Given the description of an element on the screen output the (x, y) to click on. 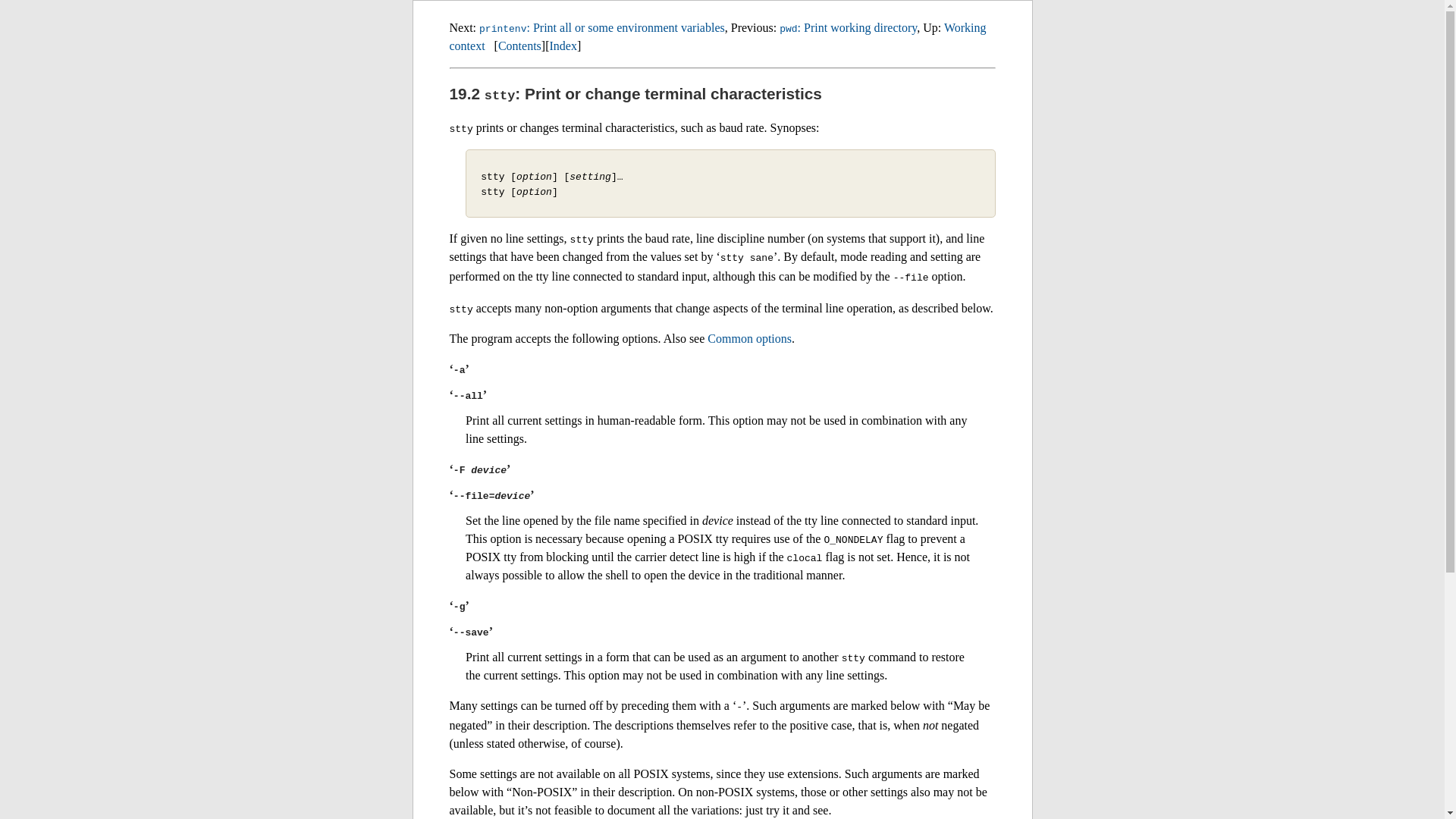
Index (562, 45)
Table of contents (519, 45)
Contents (519, 45)
Index (562, 45)
